Given the description of an element on the screen output the (x, y) to click on. 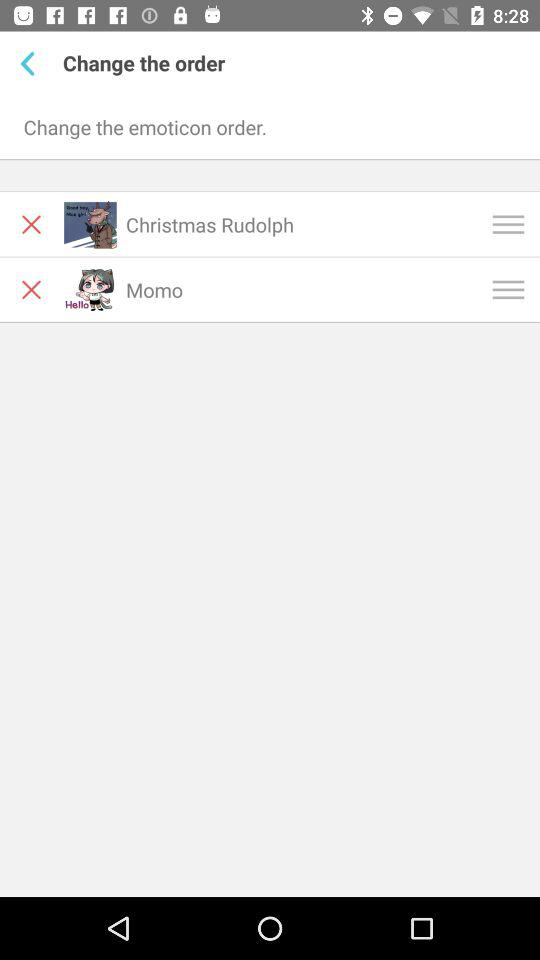
close (31, 224)
